Given the description of an element on the screen output the (x, y) to click on. 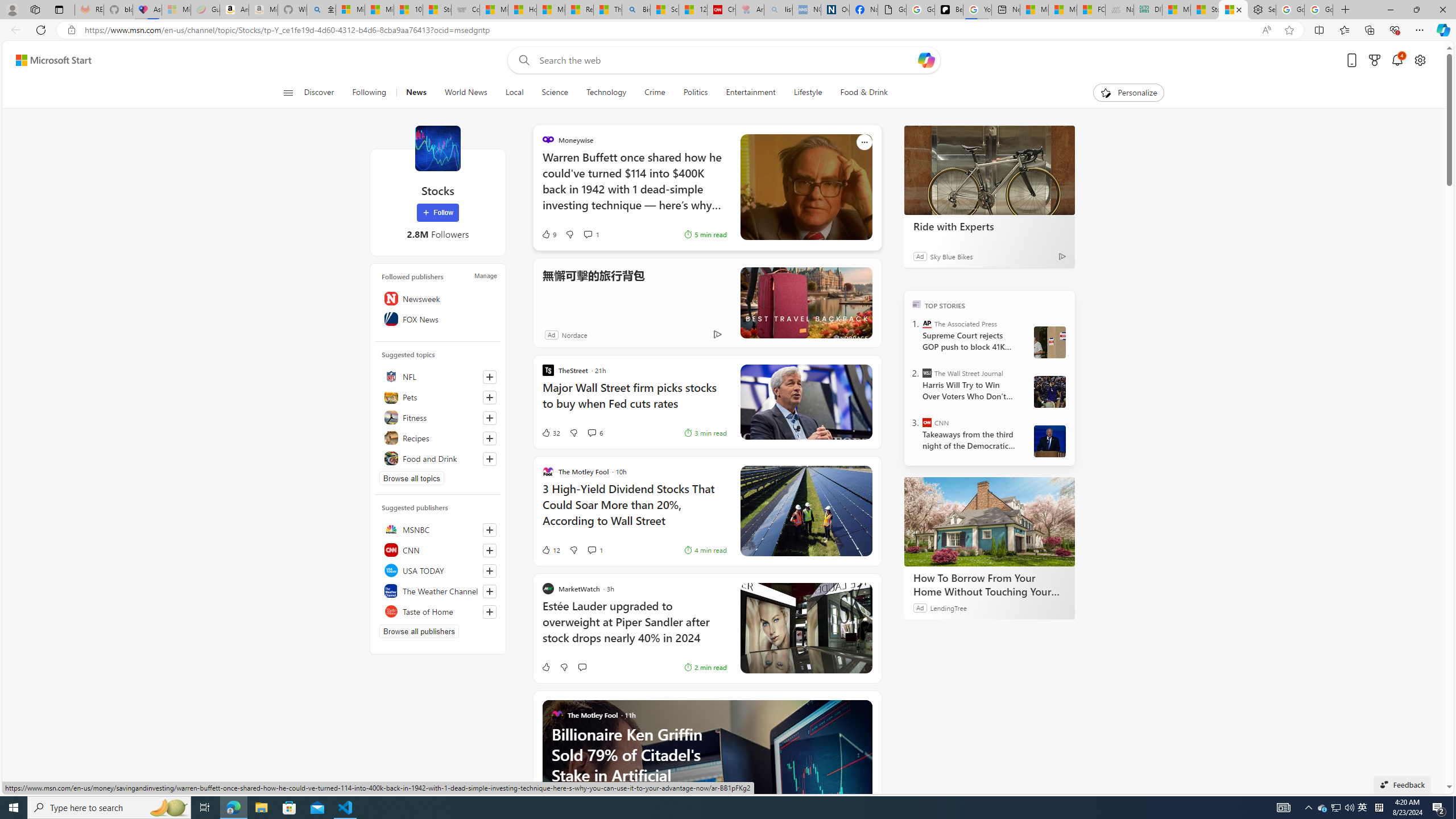
TOP (916, 302)
News (416, 92)
Following (370, 92)
Start the conversation (581, 667)
Ride with Experts (988, 226)
Class: button-glyph (287, 92)
Science (554, 92)
Asthma Inhalers: Names and Types (146, 9)
Pets (437, 397)
